Given the description of an element on the screen output the (x, y) to click on. 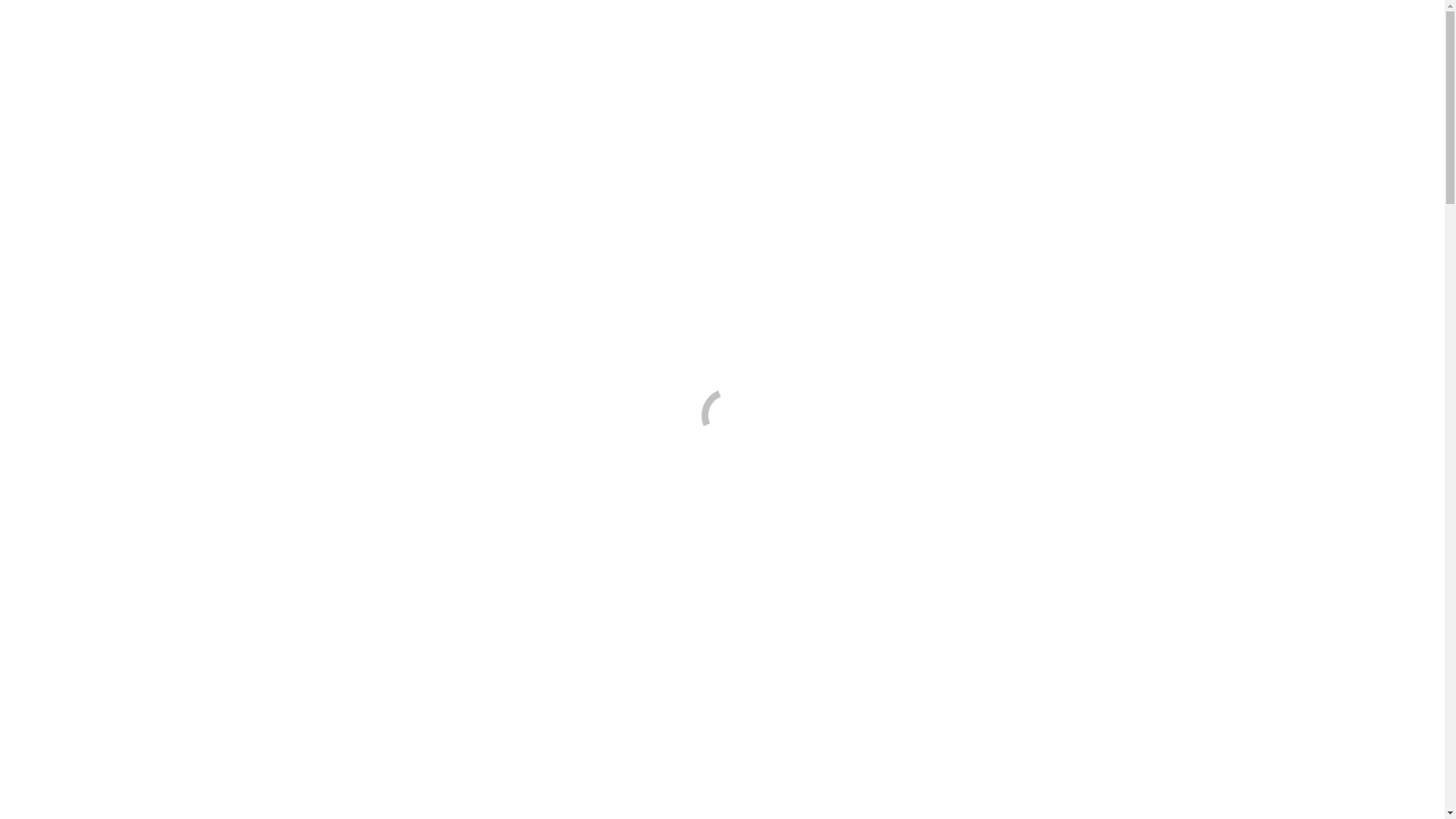
Home Element type: text (88, 119)
BOOK NOW Element type: text (151, 200)
About us Element type: text (96, 133)
Our Team Element type: text (98, 160)
Go! Element type: text (790, 352)
Blog & News Element type: text (107, 174)
CONTACT US Element type: text (80, 200)
Practice Areas Element type: text (109, 147)
Skip to content Element type: text (5, 5)
